Given the description of an element on the screen output the (x, y) to click on. 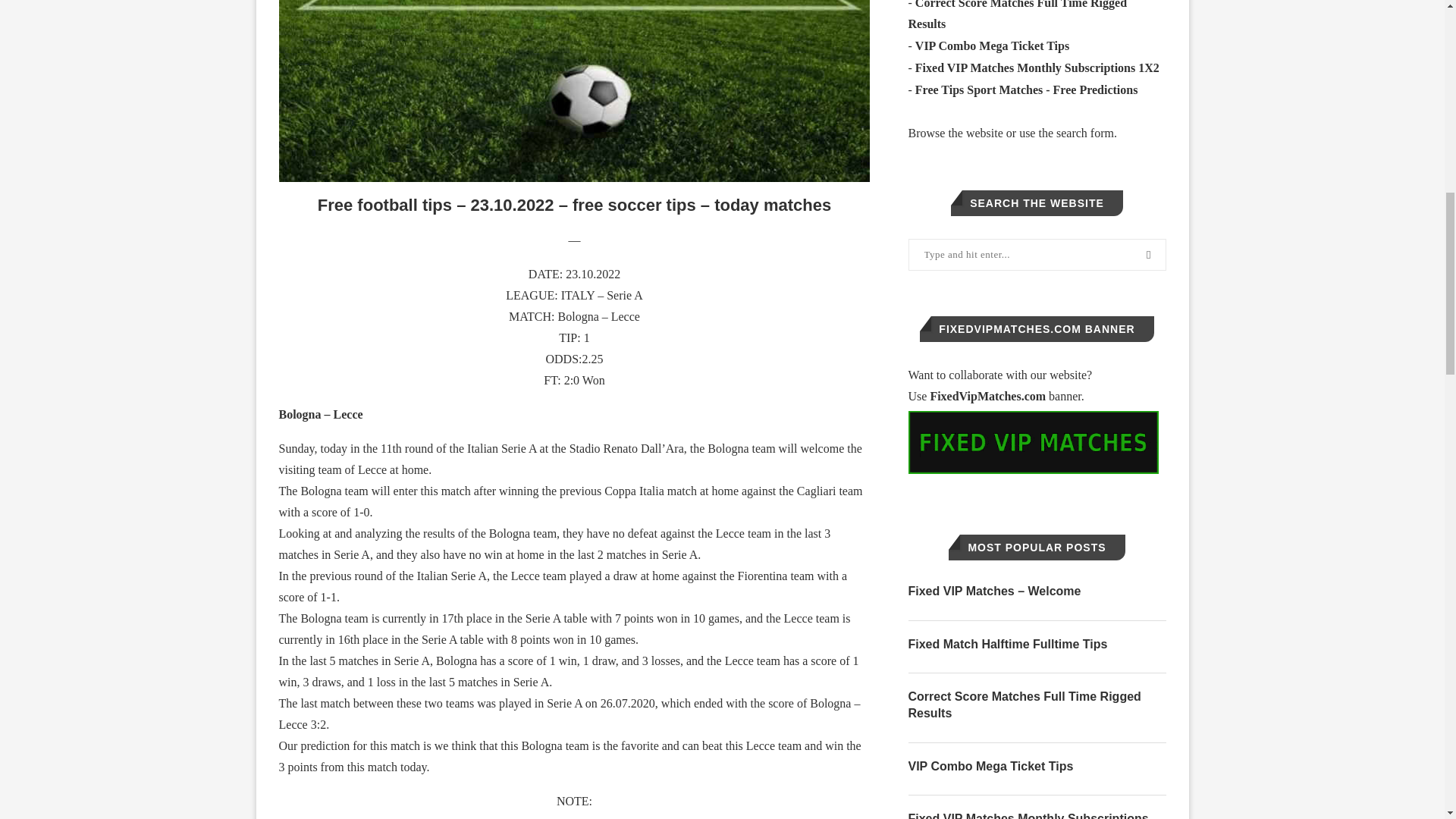
Correct Score Matches Full Time Rigged Results (1017, 15)
VIP Combo Mega Ticket Tips (991, 45)
Europa Conference League - Qualification (601, 295)
